Given the description of an element on the screen output the (x, y) to click on. 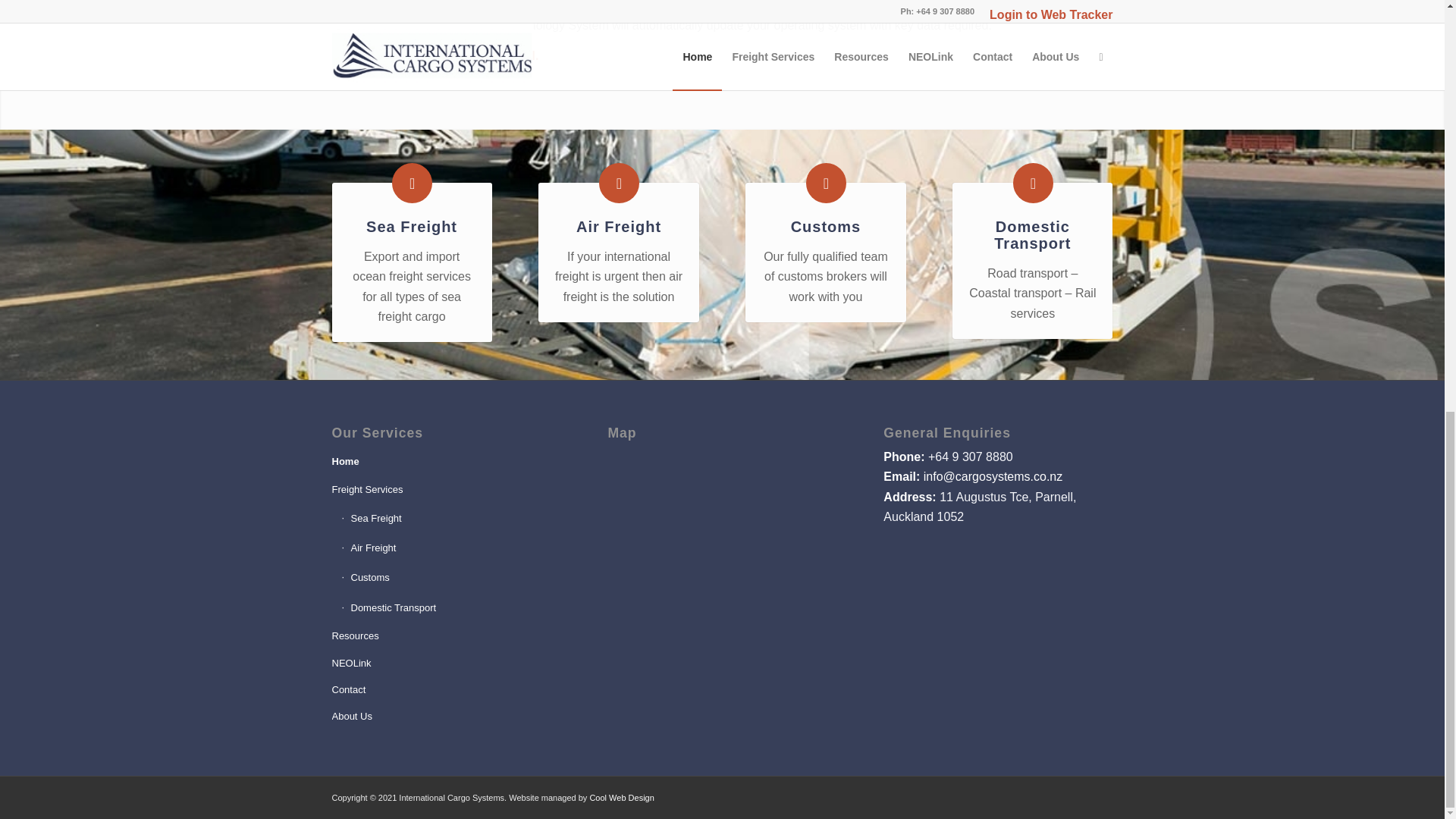
About Us (445, 716)
Air Freight (618, 182)
Sea Freight (411, 182)
Domestic Transport (1032, 182)
Sea Freight (450, 518)
Customs (825, 182)
Customs (450, 577)
Sea Freight (411, 226)
Home (445, 461)
Air Freight (450, 548)
